Given the description of an element on the screen output the (x, y) to click on. 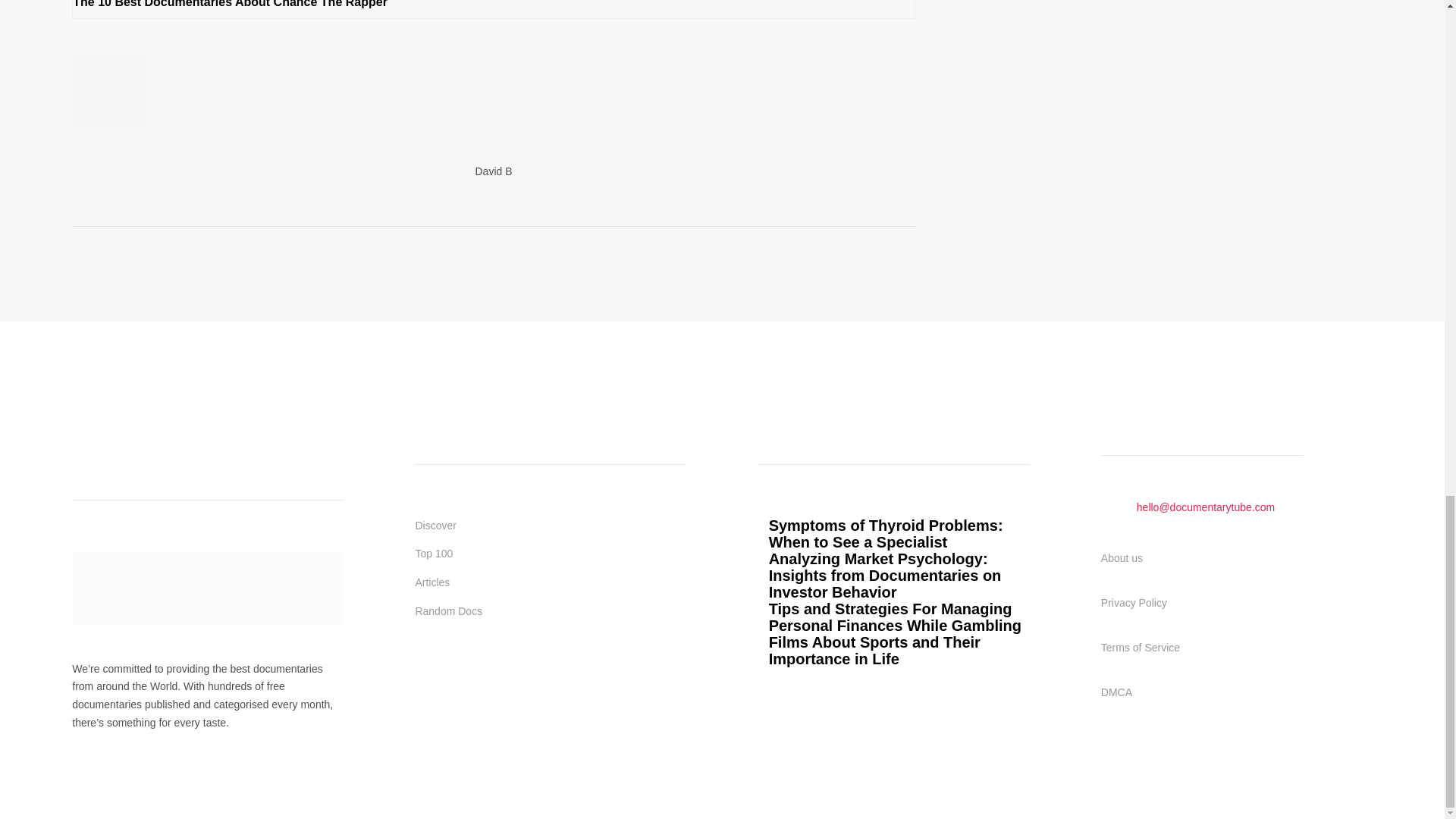
The 10 Best Documentaries About Chance The Rapper (229, 4)
dc-removebg-preview (207, 588)
Follow on Facebook (426, 668)
